Given the description of an element on the screen output the (x, y) to click on. 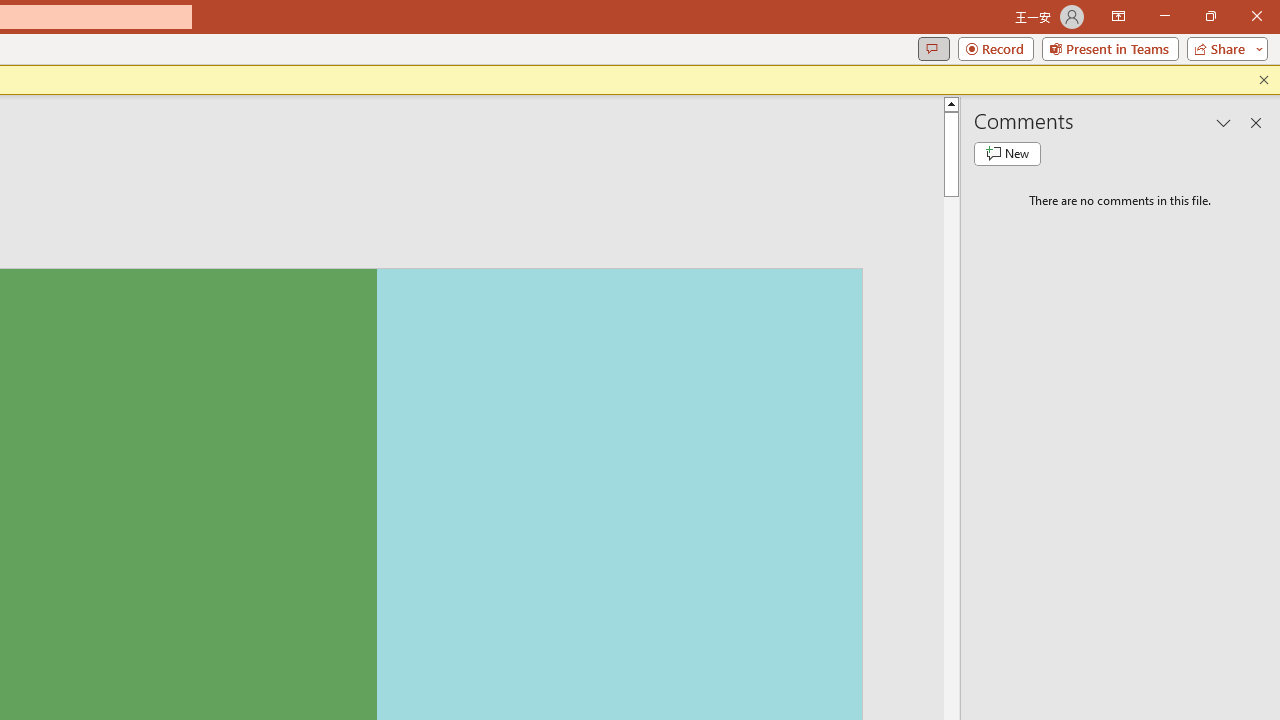
New comment (1007, 153)
Close this message (1263, 80)
